Given the description of an element on the screen output the (x, y) to click on. 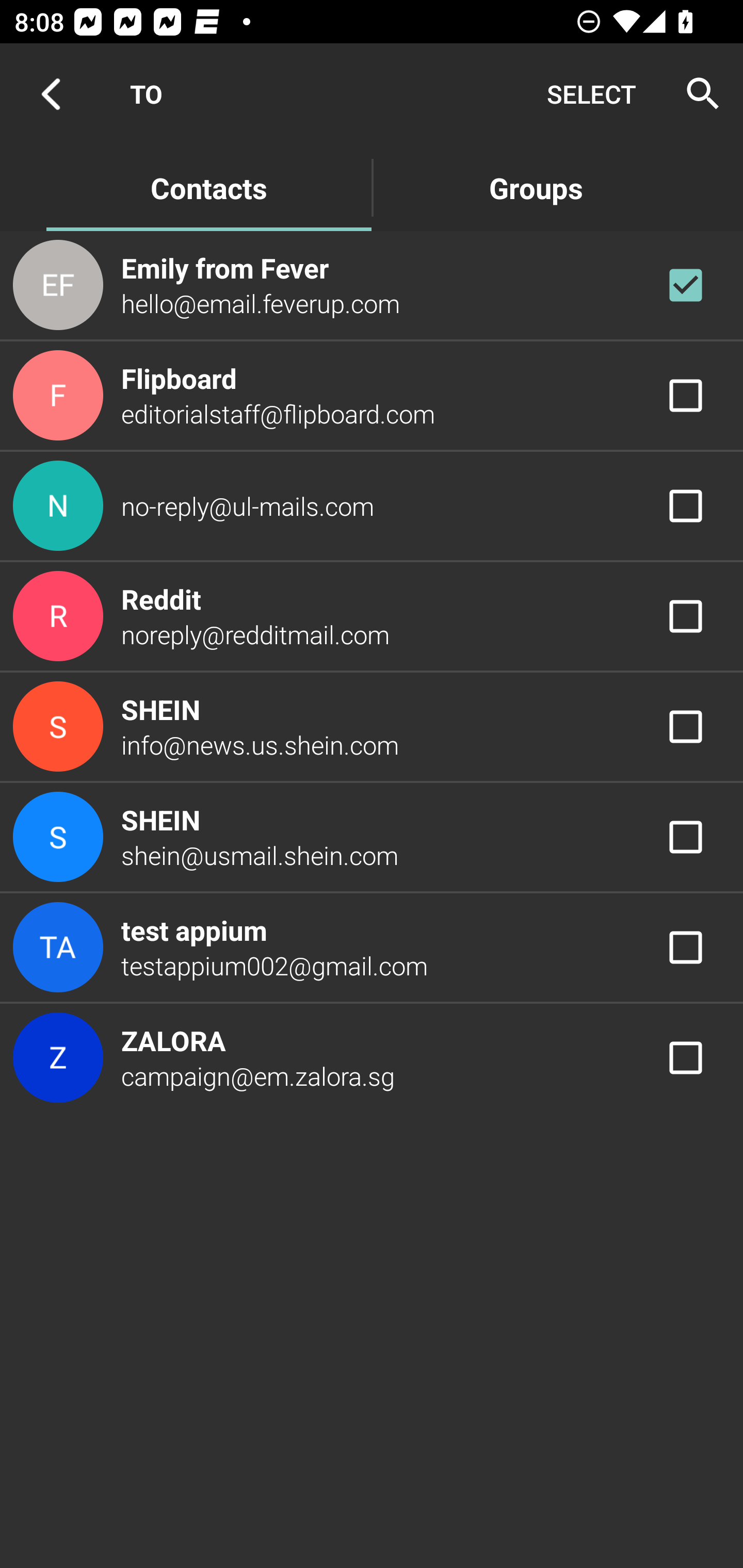
Navigate up (50, 93)
SELECT (590, 93)
Search (696, 93)
Contacts (208, 187)
Groups (535, 187)
Emily from Fever hello@email.feverup.com (371, 284)
Flipboard editorialstaff@flipboard.com (371, 395)
no-reply@ul-mails.com (371, 505)
Reddit noreply@redditmail.com (371, 616)
SHEIN info@news.us.shein.com (371, 726)
SHEIN shein@usmail.shein.com (371, 836)
test appium testappium002@gmail.com (371, 947)
ZALORA campaign@em.zalora.sg (371, 1057)
